Given the description of an element on the screen output the (x, y) to click on. 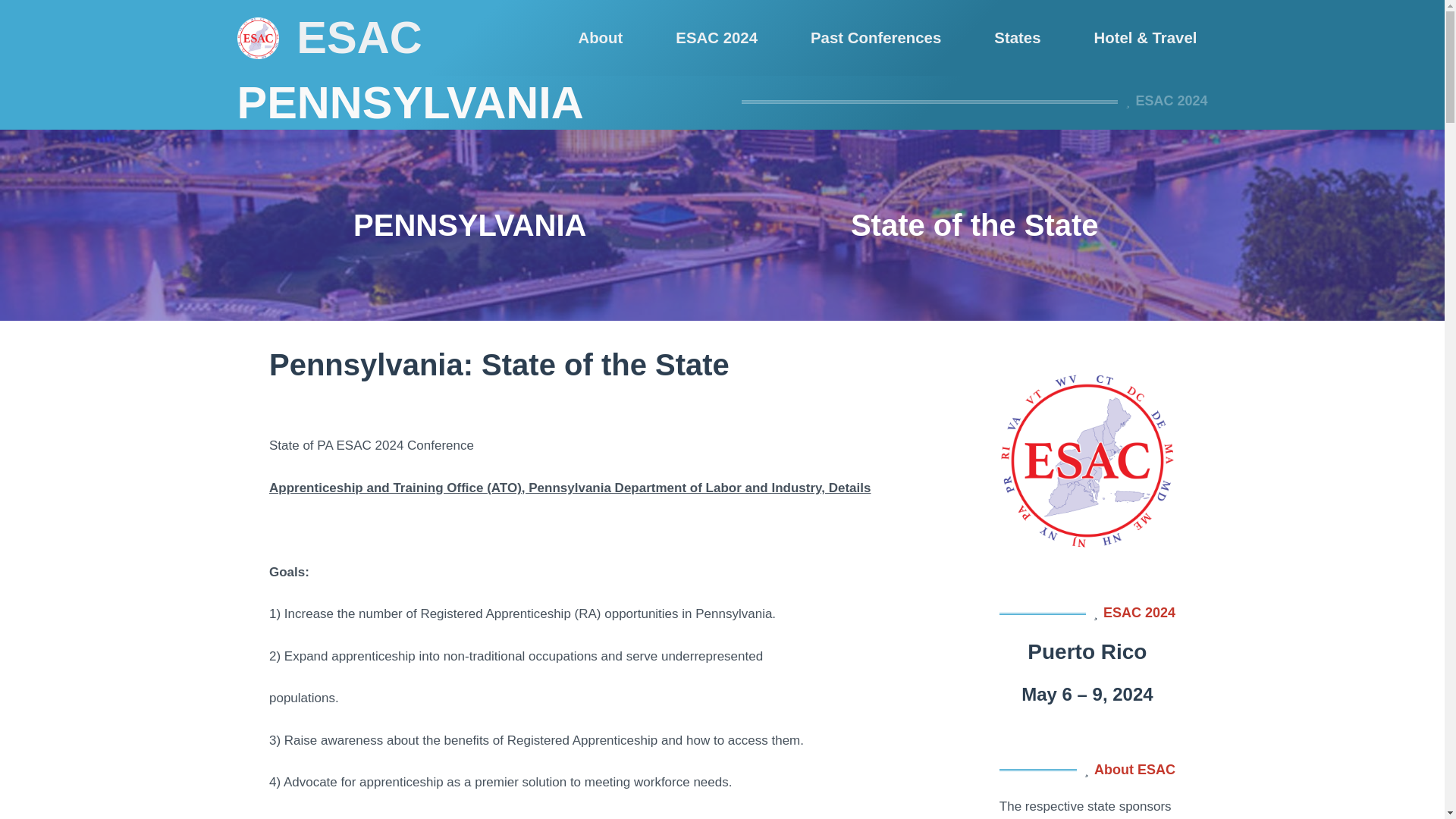
ESAC (359, 37)
Past Conferences (875, 38)
States (1017, 38)
ESAC 2024 (716, 38)
